Given the description of an element on the screen output the (x, y) to click on. 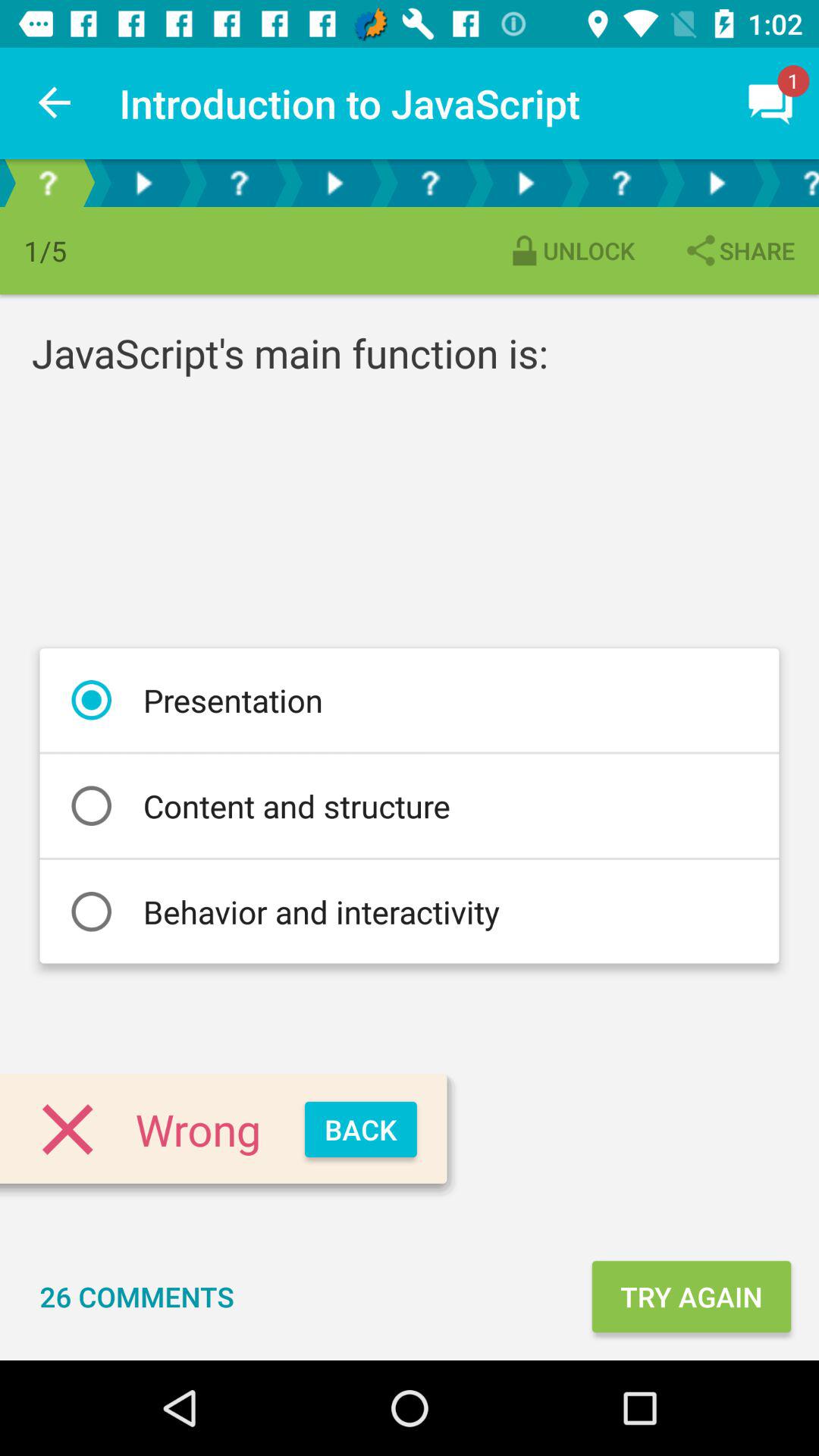
select 26 comments item (136, 1296)
